Given the description of an element on the screen output the (x, y) to click on. 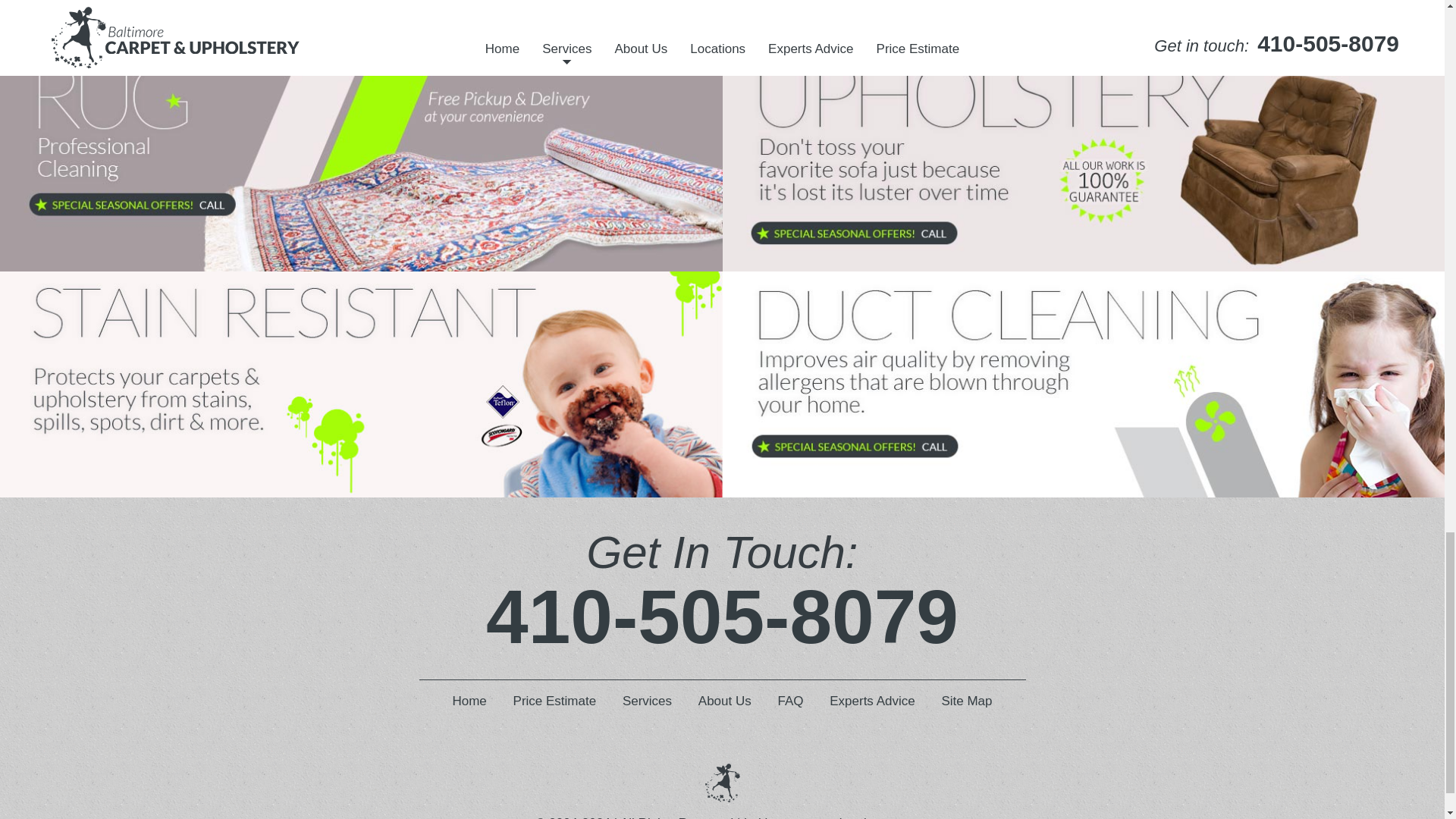
Price Estimate (554, 700)
FAQ (790, 700)
410-505-8079 (722, 616)
Services (647, 700)
About Us (724, 700)
Home (468, 700)
